Given the description of an element on the screen output the (x, y) to click on. 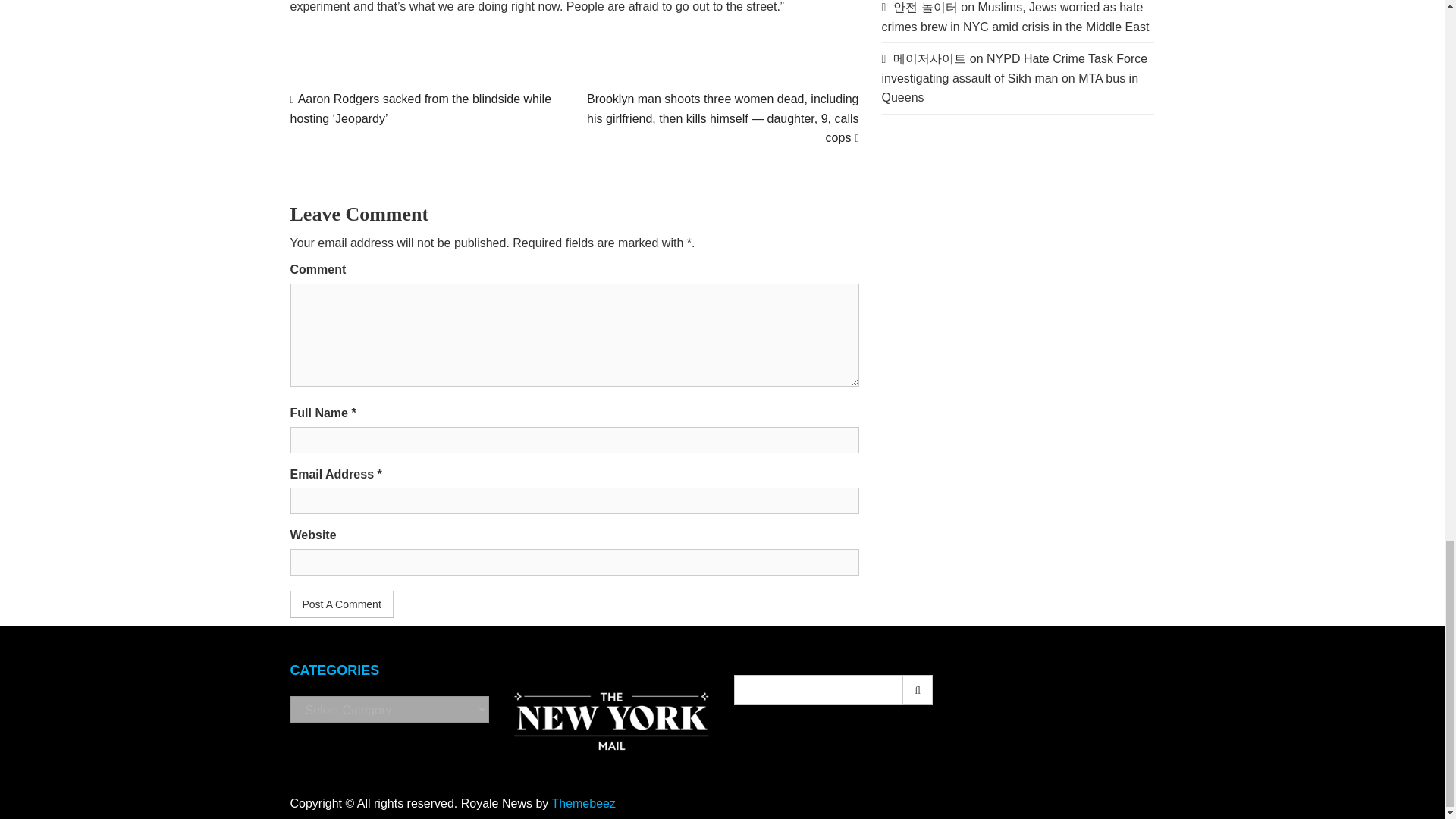
Post A Comment (341, 604)
Post A Comment (341, 604)
